Given the description of an element on the screen output the (x, y) to click on. 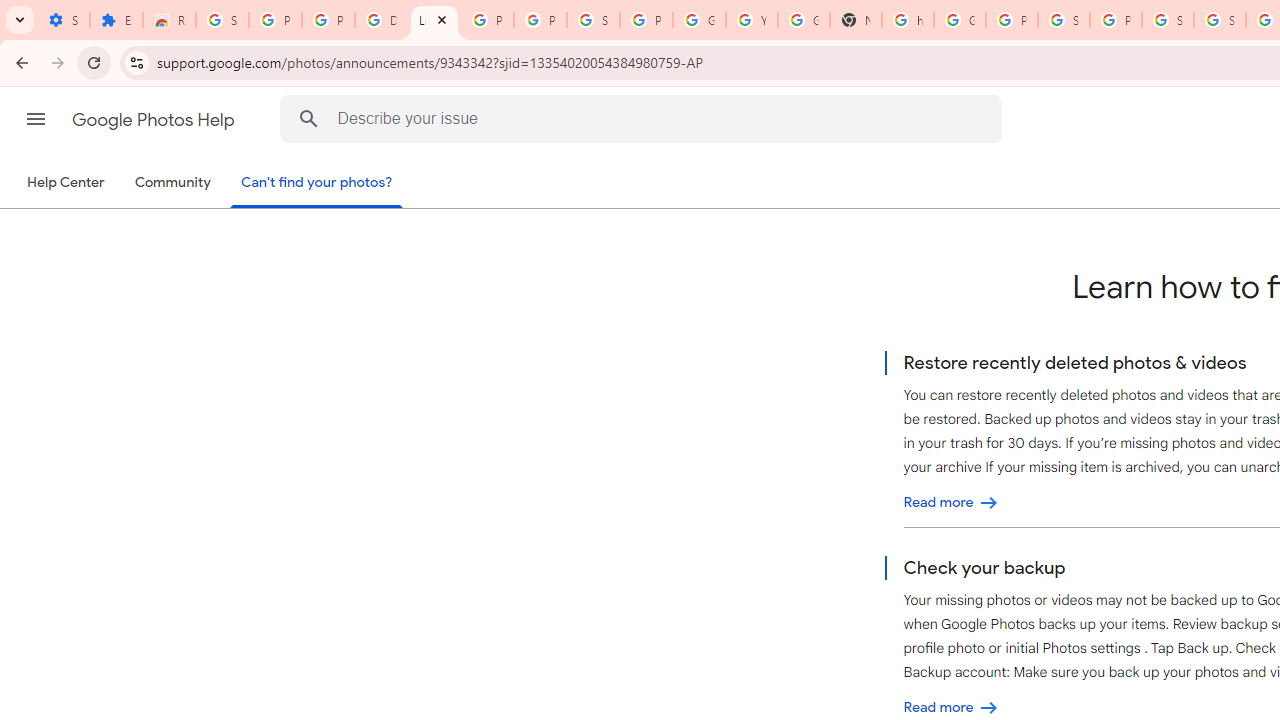
Sign in - Google Accounts (593, 20)
Google Account (699, 20)
Sign in - Google Accounts (1064, 20)
Sign in - Google Accounts (222, 20)
Help Center (65, 183)
Sign in - Google Accounts (1167, 20)
